Given the description of an element on the screen output the (x, y) to click on. 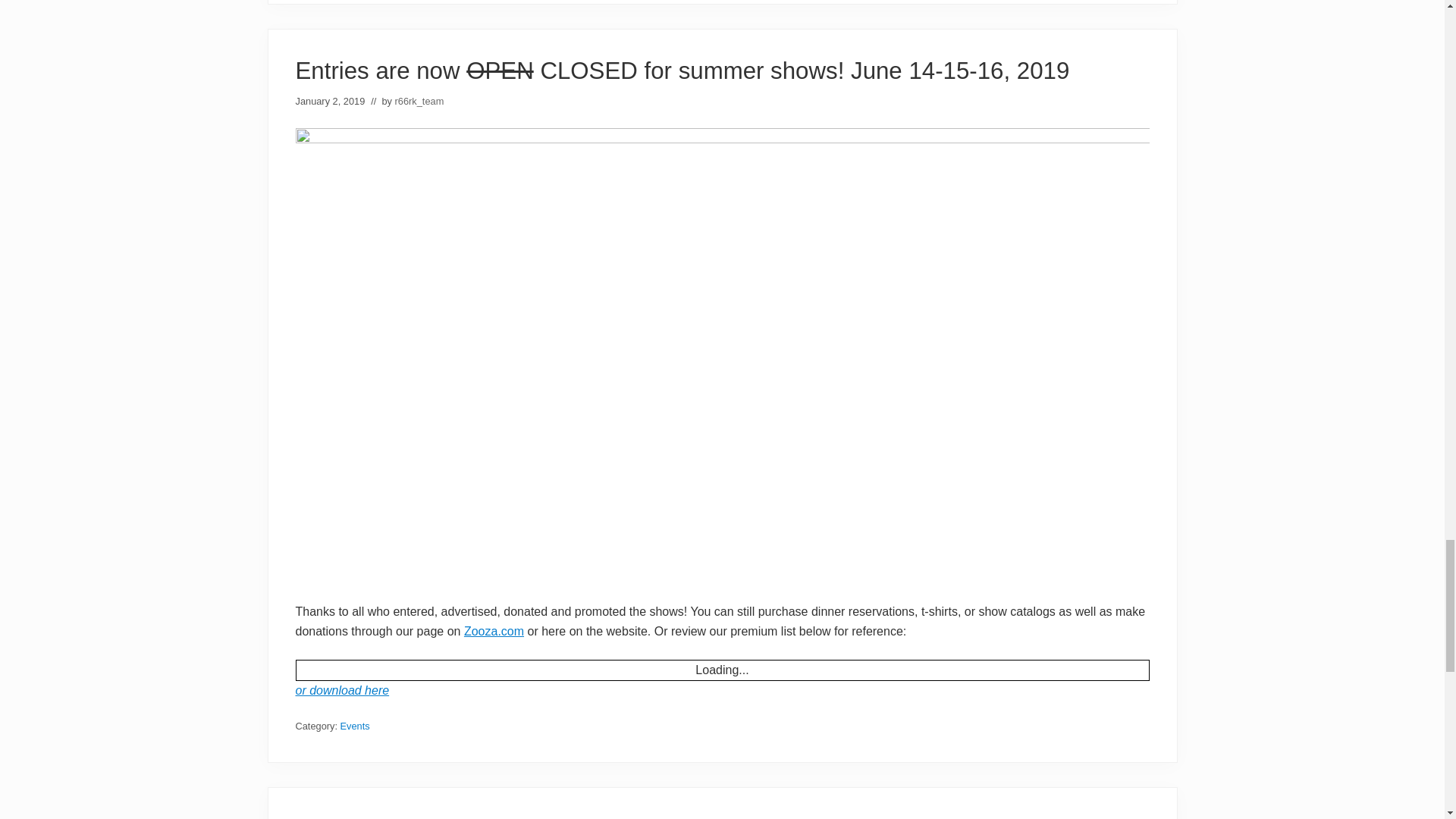
Zooza.com (494, 631)
or download here (342, 689)
Events (354, 726)
